Given the description of an element on the screen output the (x, y) to click on. 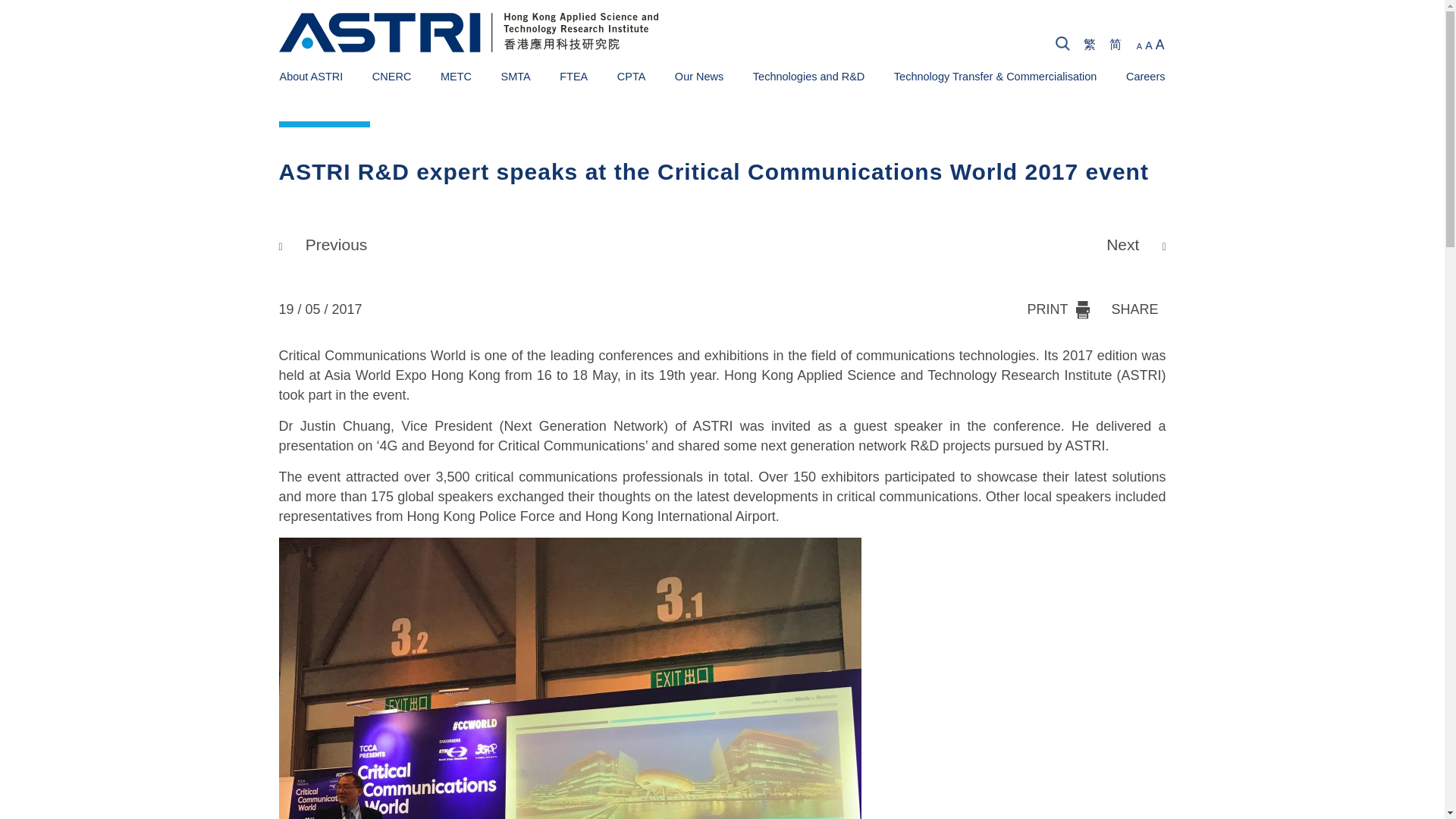
Our News (699, 76)
A (1138, 45)
CNERC (392, 76)
CPTA (631, 76)
About ASTRI (310, 76)
Search (1348, 45)
Corporate News (369, 74)
METC (456, 76)
SMTA (514, 76)
FTEA (573, 76)
